Given the description of an element on the screen output the (x, y) to click on. 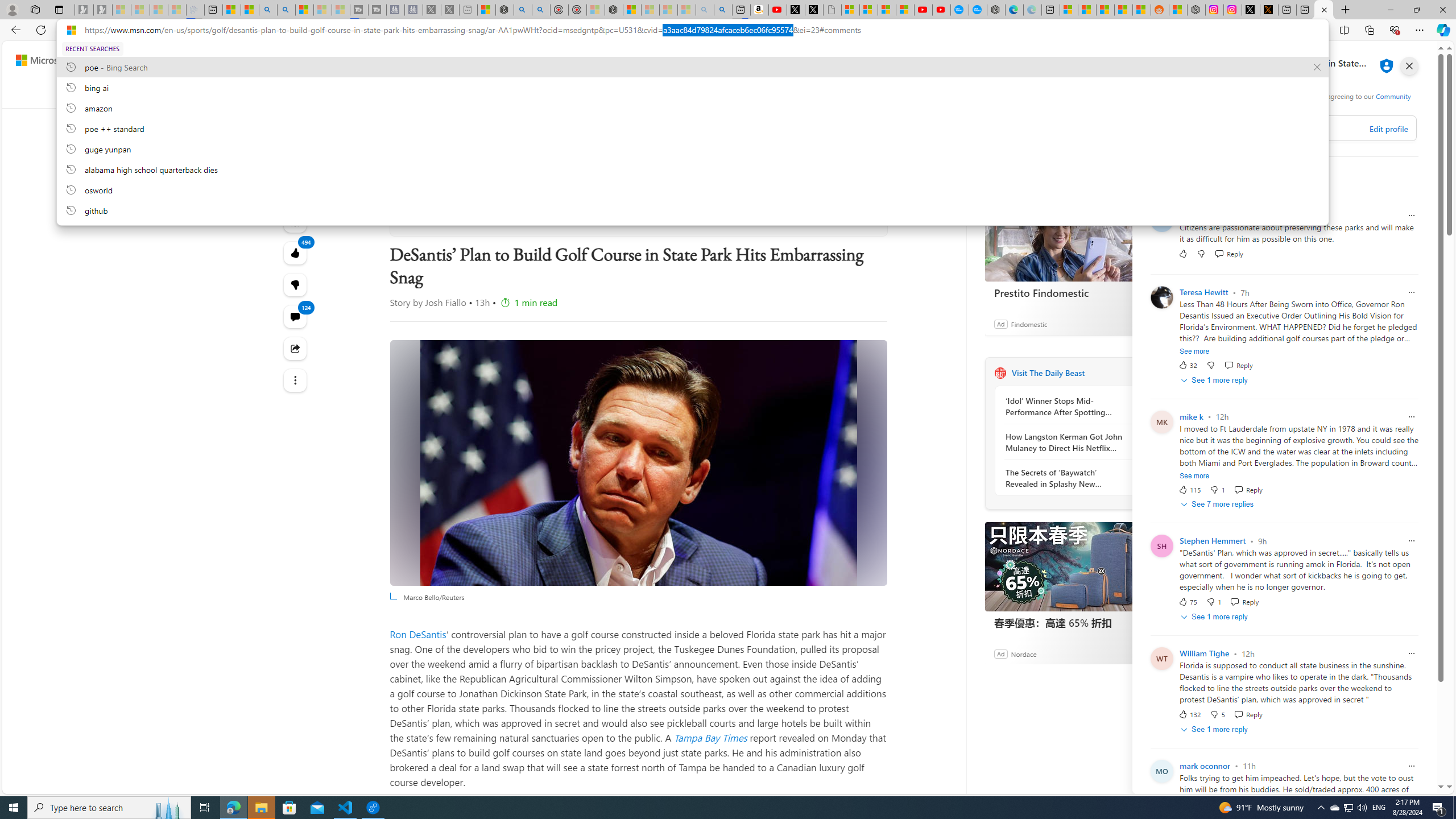
NCAA FB (794, 92)
Notifications (1397, 60)
amazon - Search - Sleeping (705, 9)
Amazon Echo Dot PNG - Search Images (722, 9)
Follow (515, 215)
bing ai, recent searches from history (691, 86)
Motorsports (851, 92)
New tab - Sleeping (467, 9)
See 1 more reply (1215, 729)
